Given the description of an element on the screen output the (x, y) to click on. 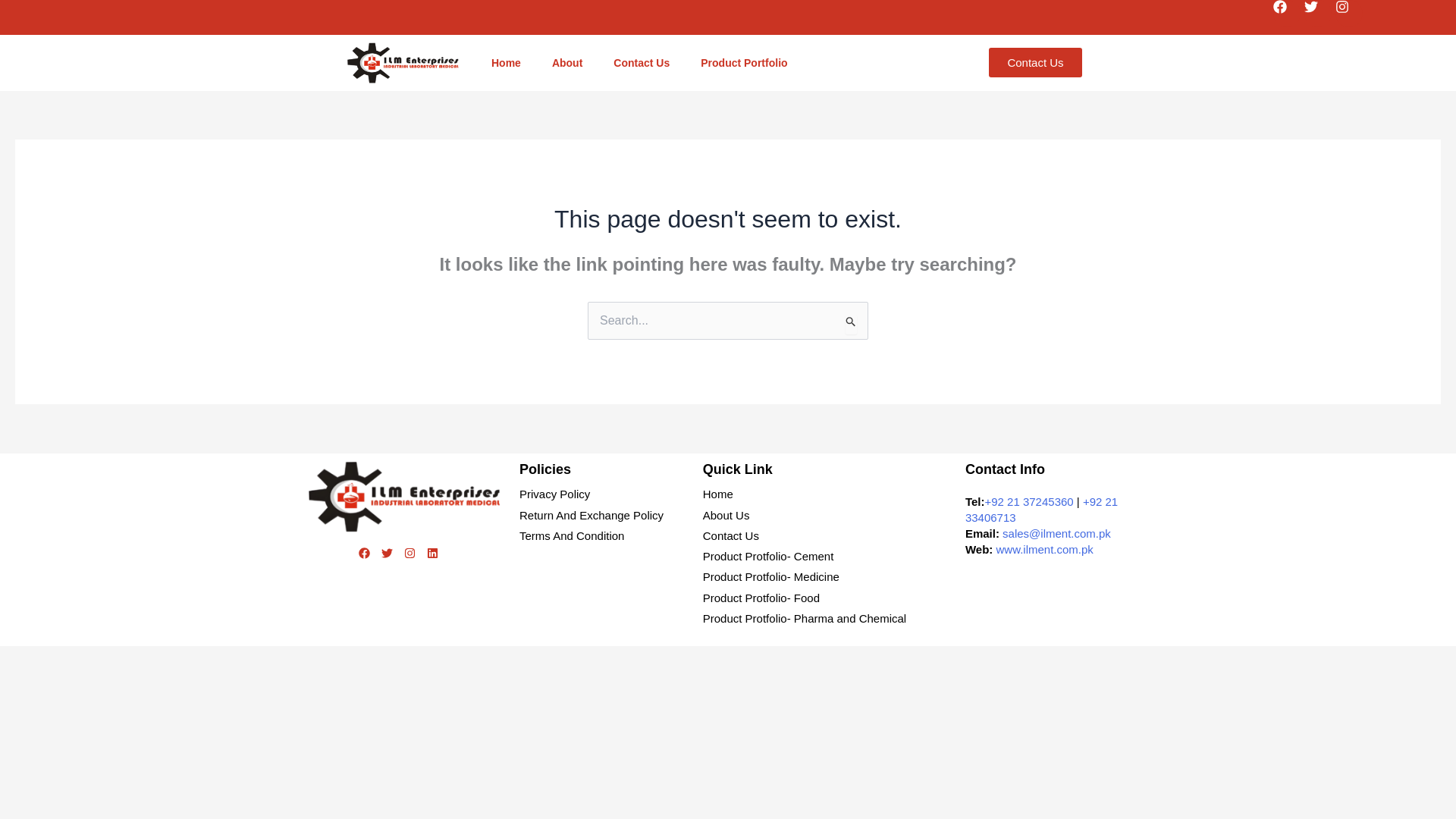
Facebook (369, 558)
Contact Us (1034, 61)
Twitter (1318, 13)
www.ilment.com.pk (1044, 549)
Instagram (414, 558)
Home (506, 62)
Facebook (1286, 13)
Linkedin (437, 558)
Product Portfolio (747, 62)
Contact Us (641, 62)
Instagram (1348, 13)
Twitter (391, 558)
About (567, 62)
